Given the description of an element on the screen output the (x, y) to click on. 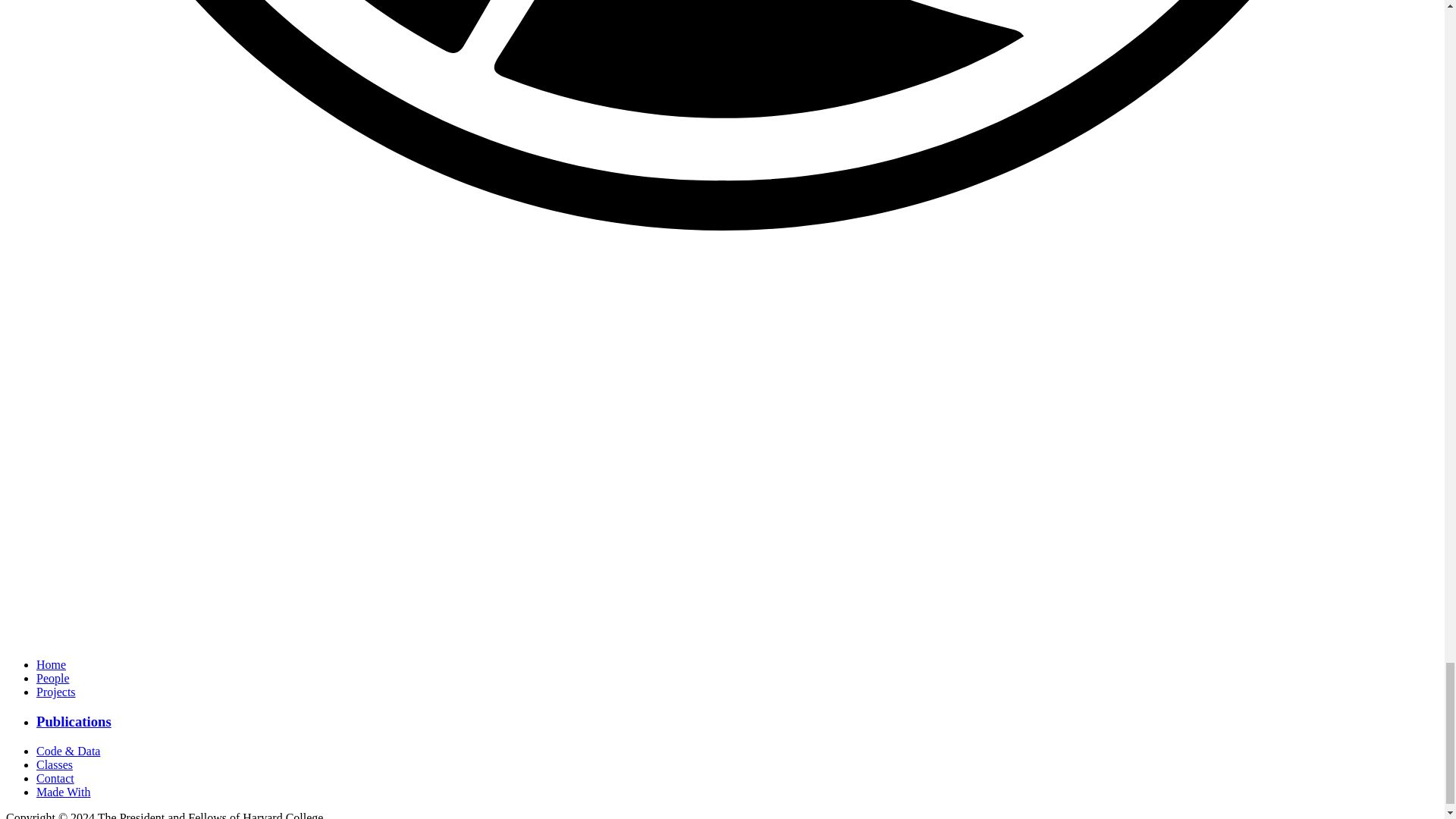
Publications (74, 721)
Made With (63, 791)
Home (50, 664)
Classes (54, 764)
Contact (55, 778)
Projects (55, 691)
People (52, 677)
